Given the description of an element on the screen output the (x, y) to click on. 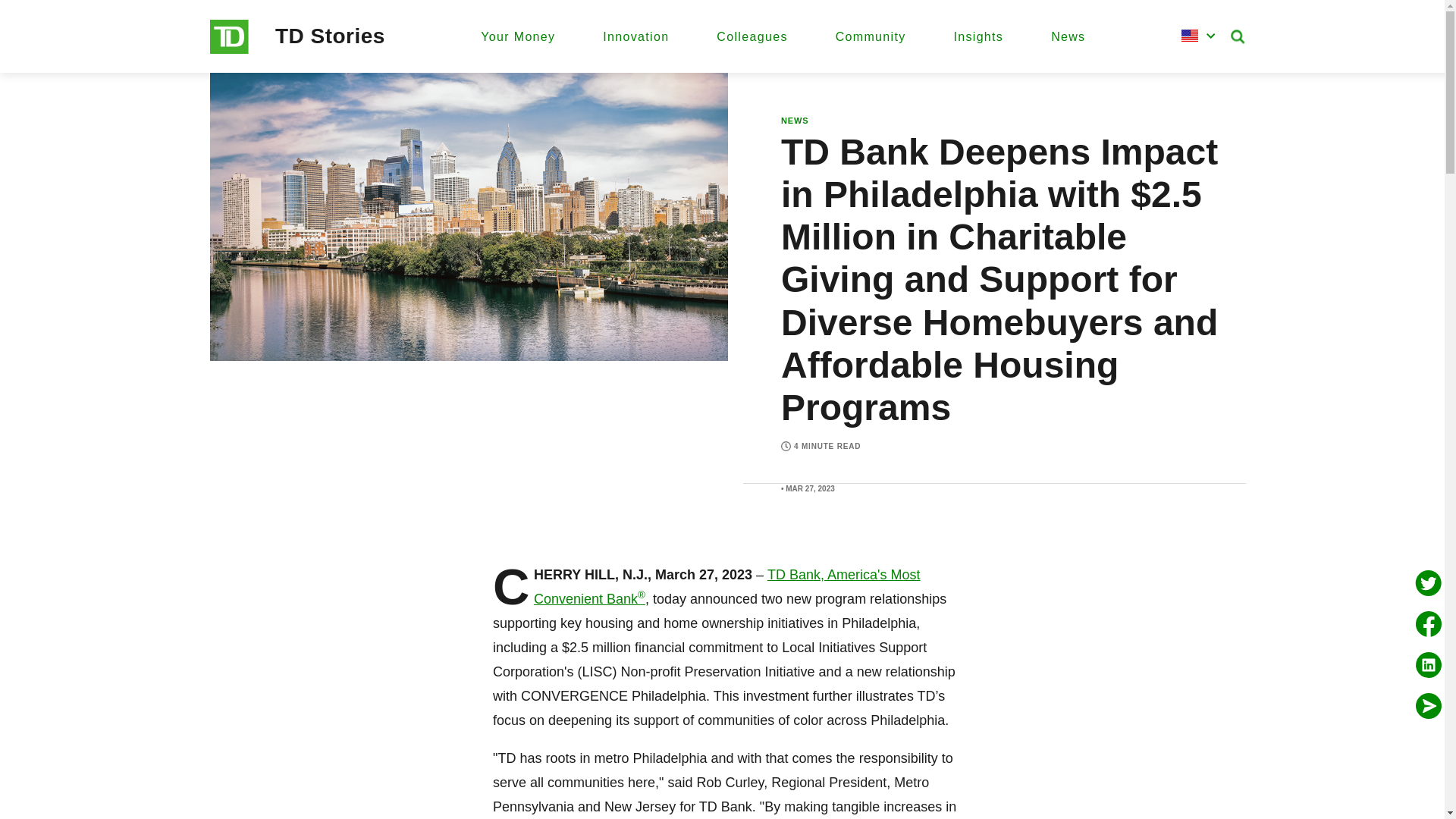
Colleagues (751, 36)
NEWS (794, 120)
TD Stories (330, 35)
Your Money (517, 36)
Community (870, 36)
Innovation (635, 36)
News (1067, 36)
Insights (978, 36)
